Given the description of an element on the screen output the (x, y) to click on. 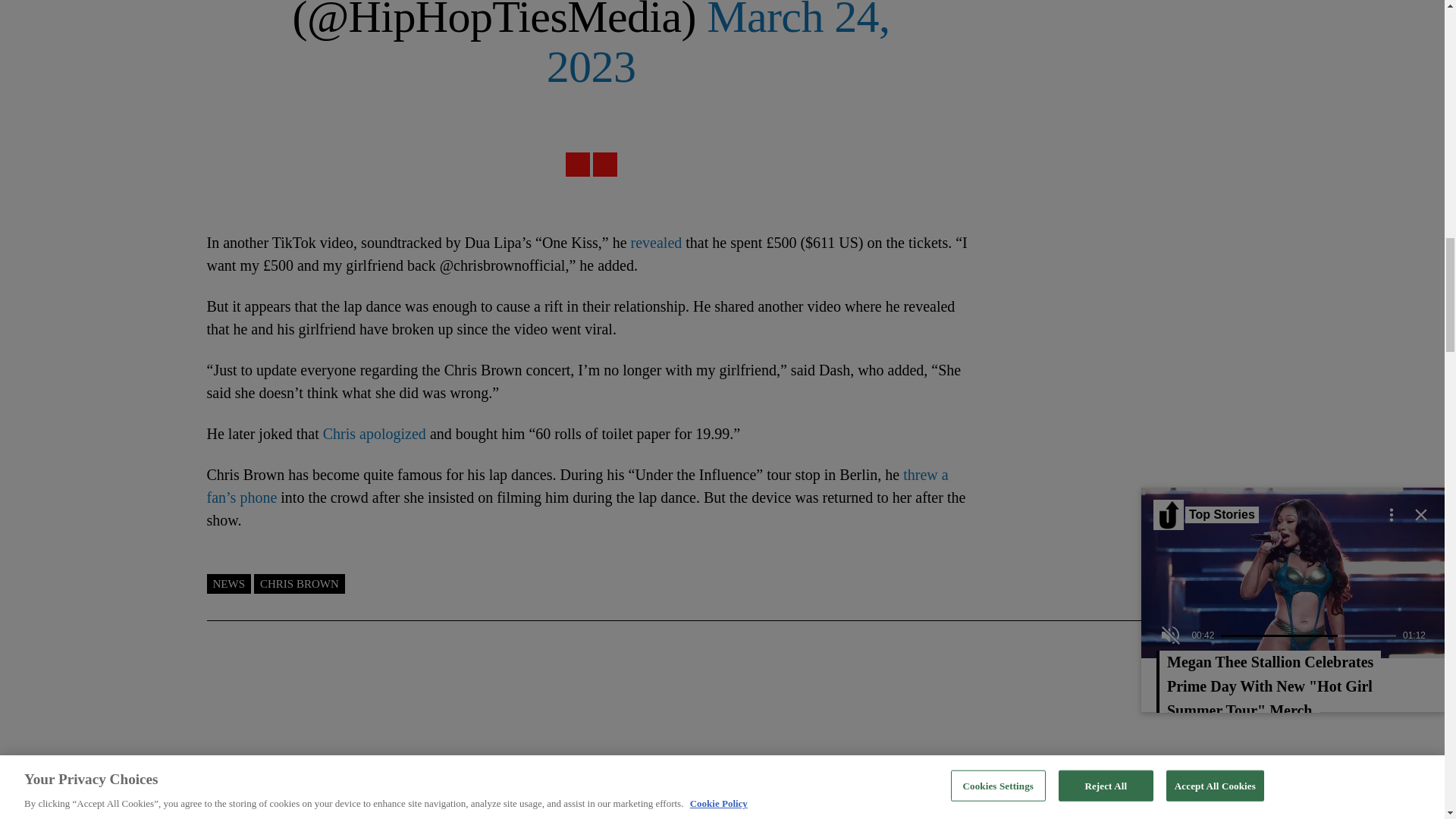
March 24, 2023 (718, 45)
NEWS (228, 583)
Chris apologized (374, 433)
revealed (656, 242)
